Given the description of an element on the screen output the (x, y) to click on. 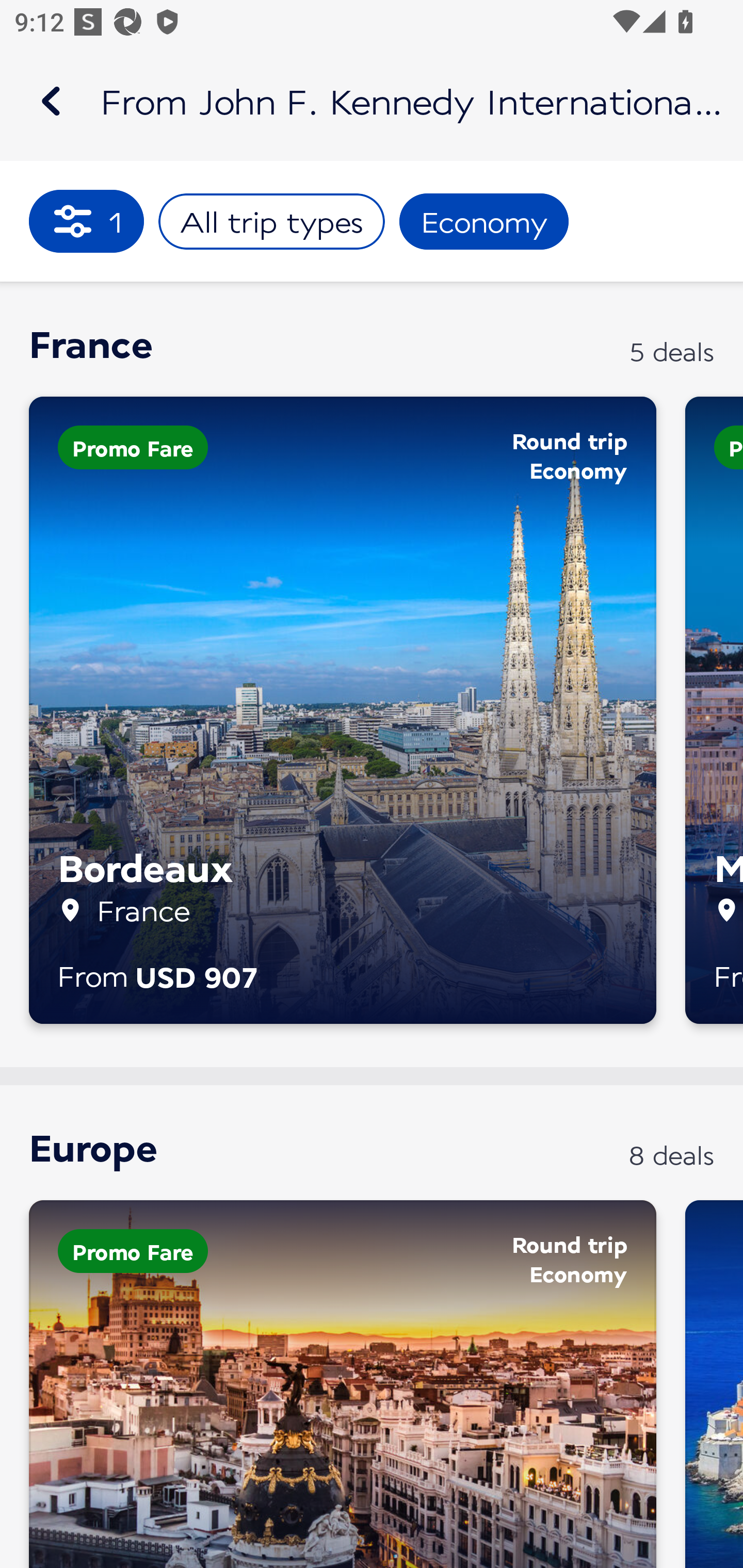
leading 1 (86, 220)
All trip types (271, 221)
Economy (483, 221)
MAD Promo Fare Round trip Economy (342, 1383)
